Given the description of an element on the screen output the (x, y) to click on. 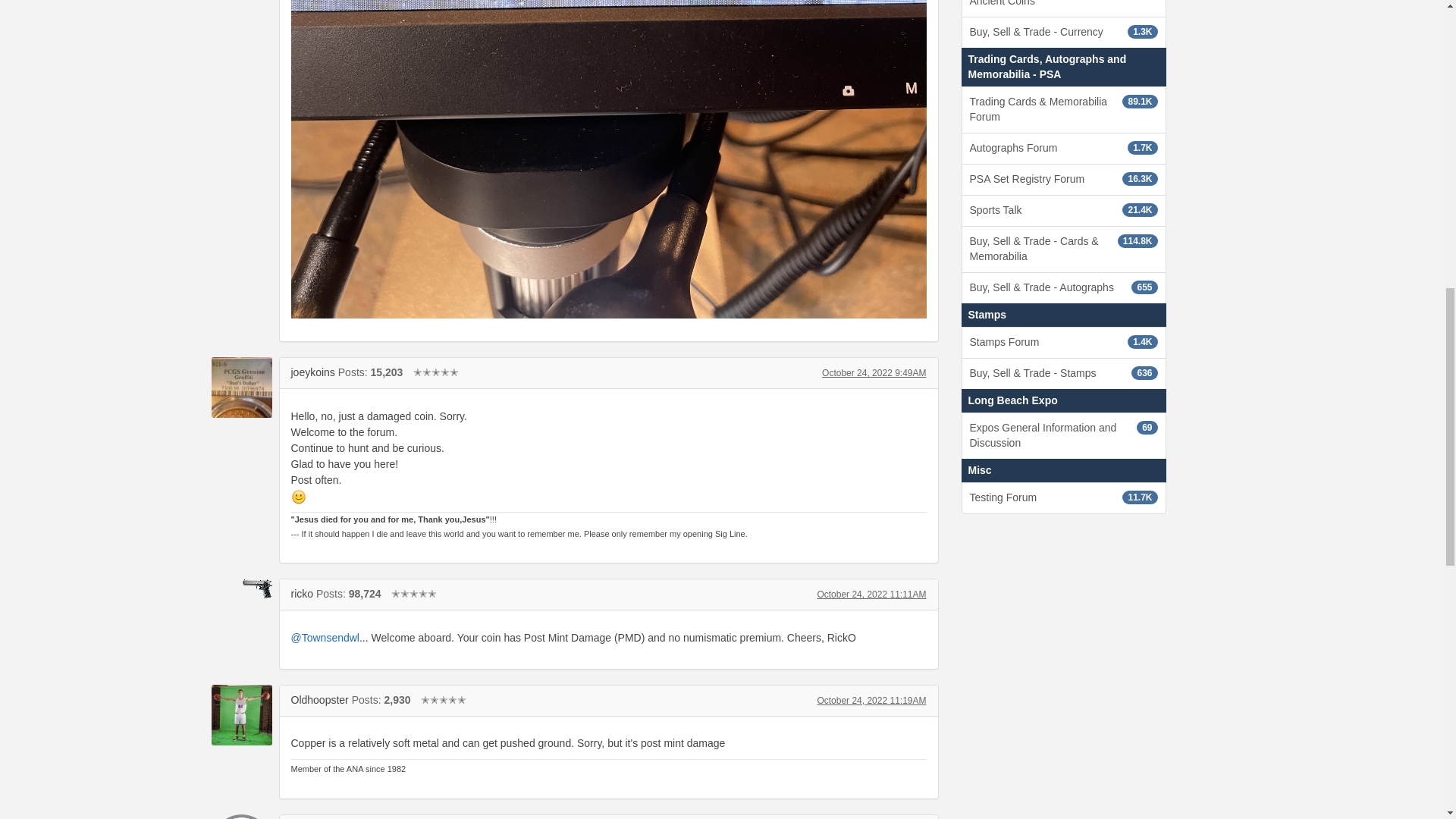
October 24, 2022 11:19AM (871, 700)
Master Collector (442, 699)
Oldhoopster (240, 714)
October 24, 2022 9:49AM (874, 372)
October 24, 2022 11:11AM (871, 593)
Master Collector (413, 593)
joeykoins (240, 387)
October 24, 2022 9:49AM (874, 372)
ricko (240, 588)
joeykoins (312, 372)
